Given the description of an element on the screen output the (x, y) to click on. 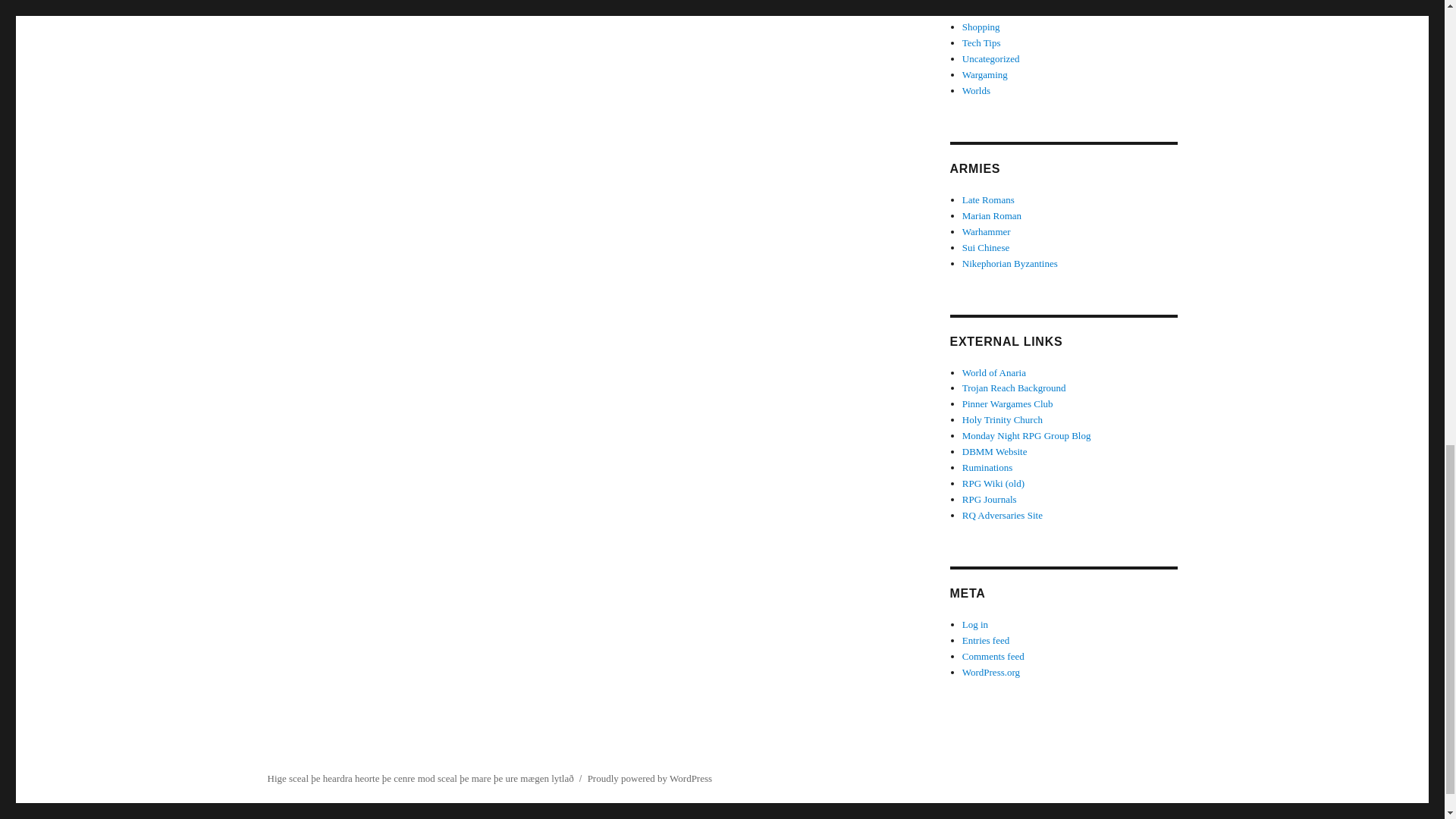
Worlds (976, 90)
Ruminations (986, 467)
RQ Adversaries Site (1002, 514)
Warhammer (986, 231)
Sui Chinese (985, 247)
Marian Roman (992, 215)
Uncategorized (991, 58)
Shopping (981, 26)
Wargaming (984, 74)
Monday Night RPG Group Blog (1026, 435)
World of Anaria (994, 372)
Rules (973, 10)
DBMM Website (994, 451)
Holy Trinity Church (1002, 419)
Pinner Wargames Club (1007, 403)
